Given the description of an element on the screen output the (x, y) to click on. 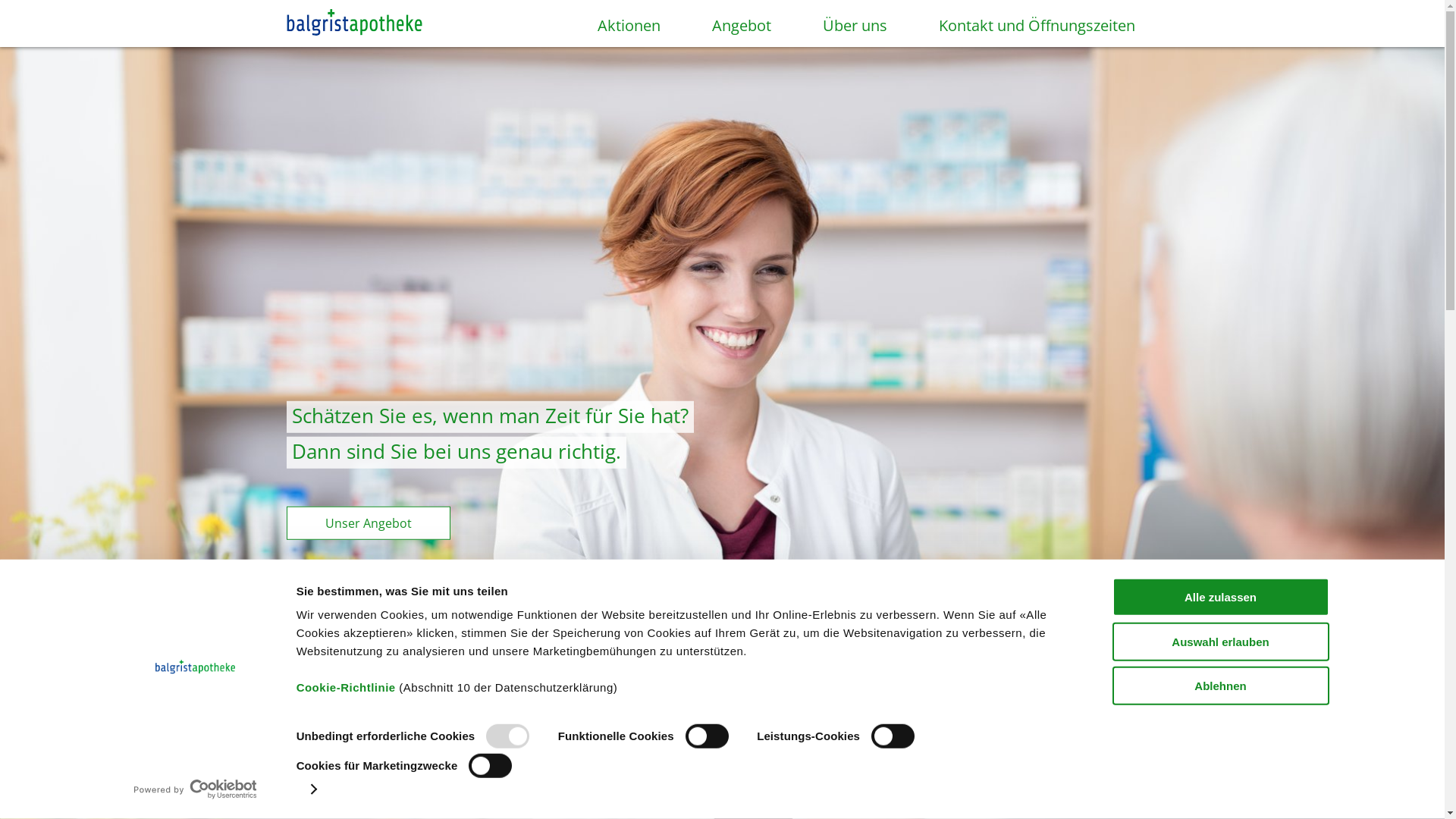
Angebot Element type: text (726, 32)
Alle zulassen Element type: text (1219, 596)
Unser Angebot Element type: text (368, 522)
Aktionen Element type: text (614, 32)
Balgrist Apotheke Element type: hover (354, 23)
Ablehnen Element type: text (1219, 685)
Cookie-Richtlinie Element type: text (345, 686)
Auswahl erlauben Element type: text (1219, 640)
